Given the description of an element on the screen output the (x, y) to click on. 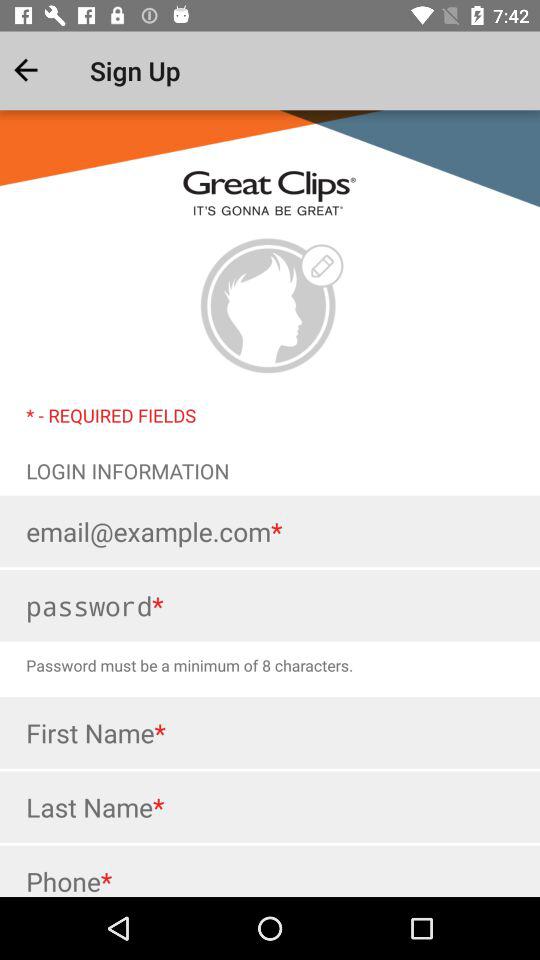
input first name (269, 732)
